Given the description of an element on the screen output the (x, y) to click on. 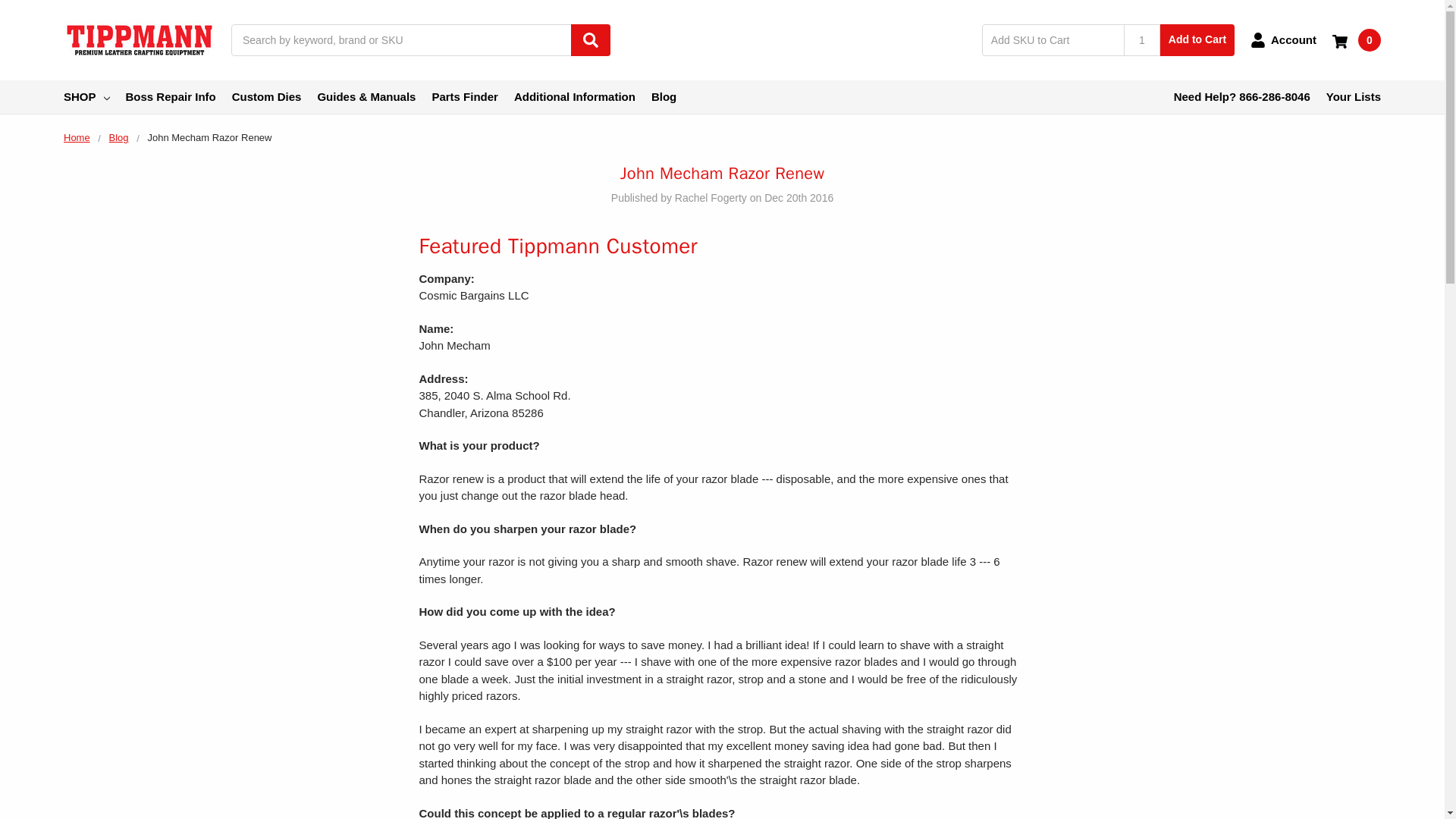
Custom Dies (266, 96)
1 (1142, 40)
Your Lists (1353, 96)
Add to Cart (1197, 40)
0 (1356, 39)
Need Help? 866-286-8046 (1241, 96)
Additional Information (573, 96)
Home (77, 137)
SHOP (87, 96)
Tippmann Industrial (139, 39)
Parts Finder (463, 96)
Account (1283, 39)
Boss Repair Info (170, 96)
